Given the description of an element on the screen output the (x, y) to click on. 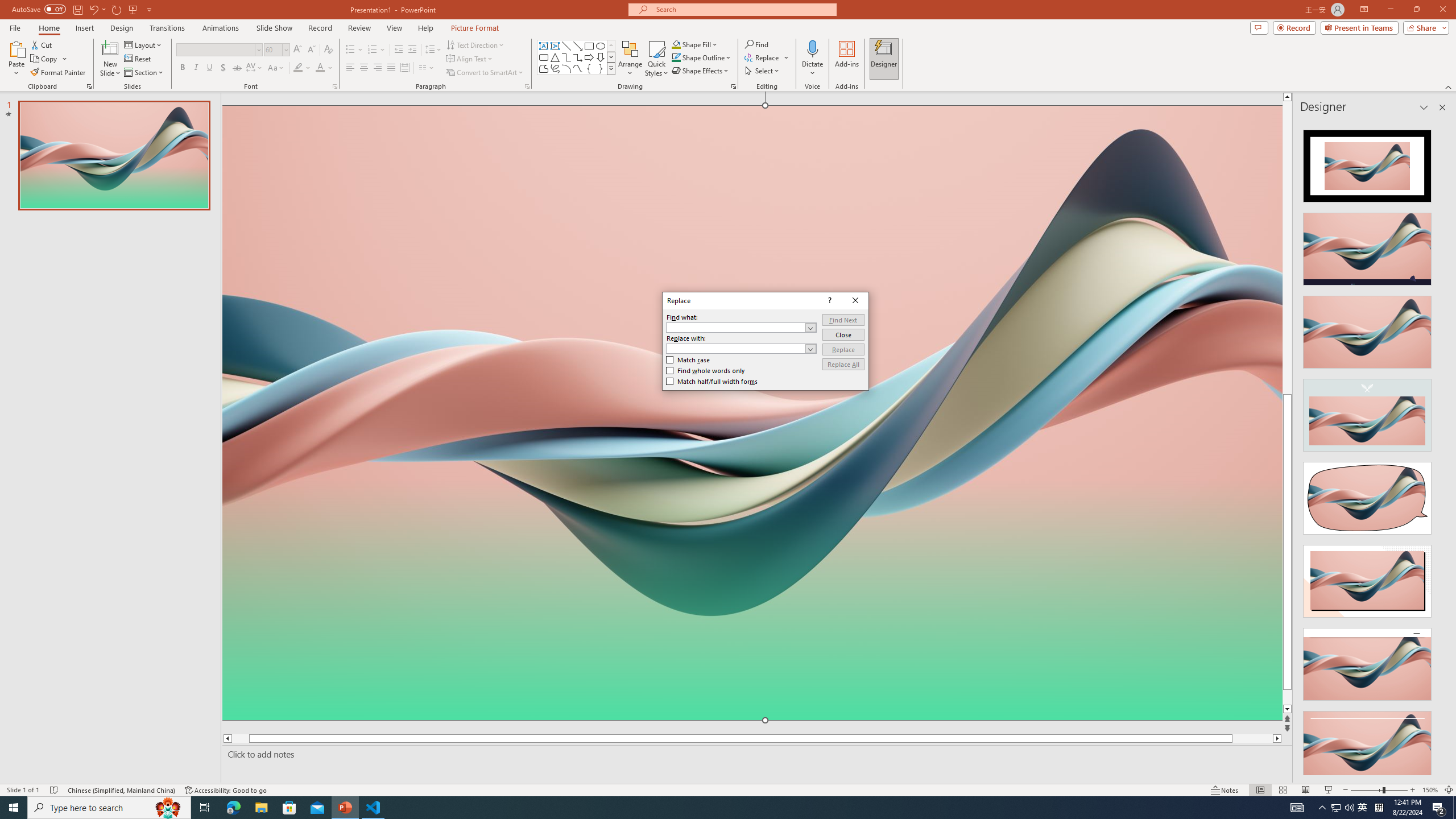
Accessibility Checker Accessibility: Good to go (226, 790)
Find whole words only (705, 370)
